Given the description of an element on the screen output the (x, y) to click on. 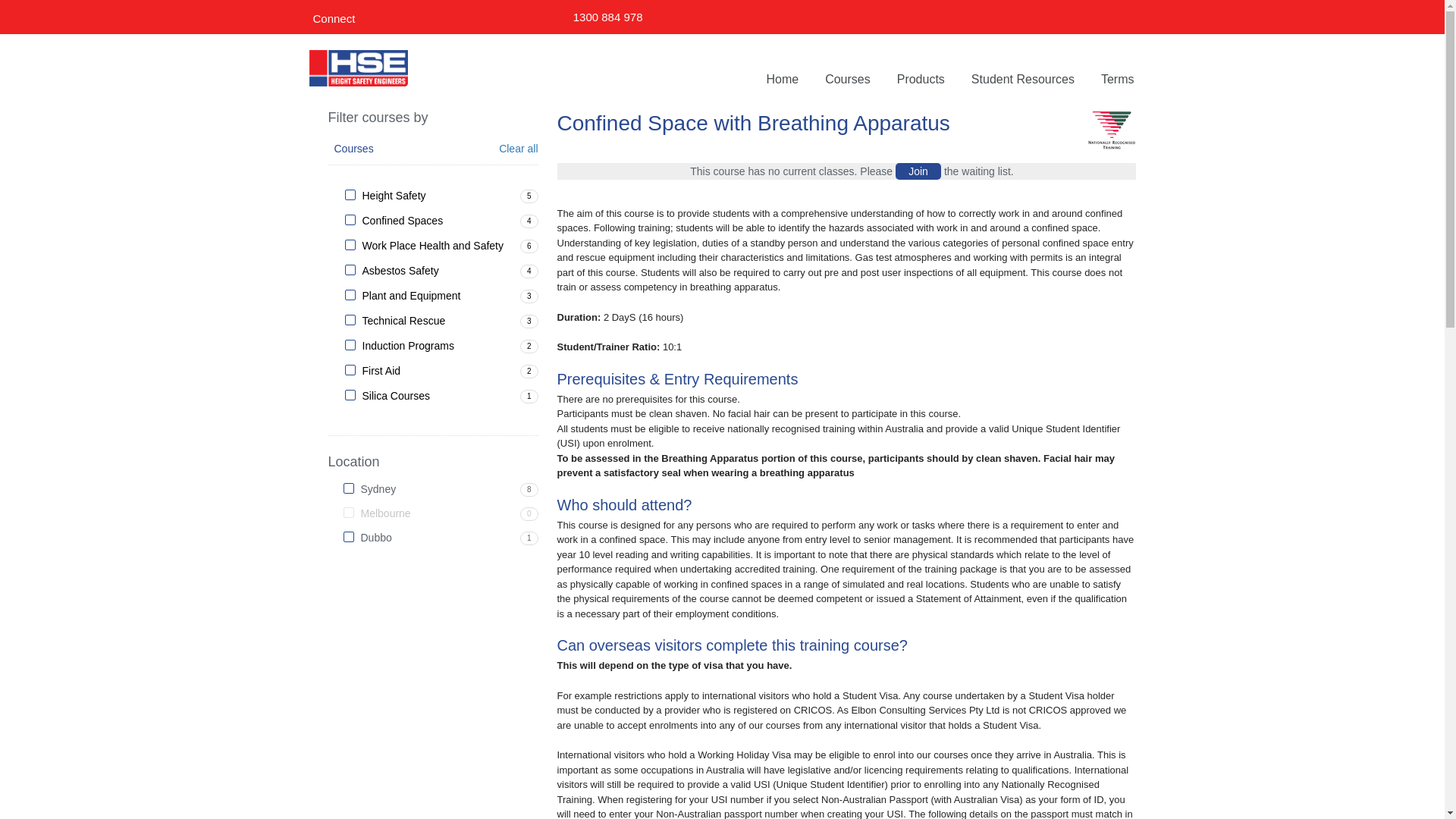
Home Element type: text (781, 79)
1300 884 978 Element type: text (608, 16)
Terms Element type: text (1117, 79)
Join Element type: text (918, 171)
Student Resources Element type: text (1022, 79)
Courses Element type: text (847, 79)
Products Element type: text (920, 79)
Clear all Element type: text (517, 148)
